Given the description of an element on the screen output the (x, y) to click on. 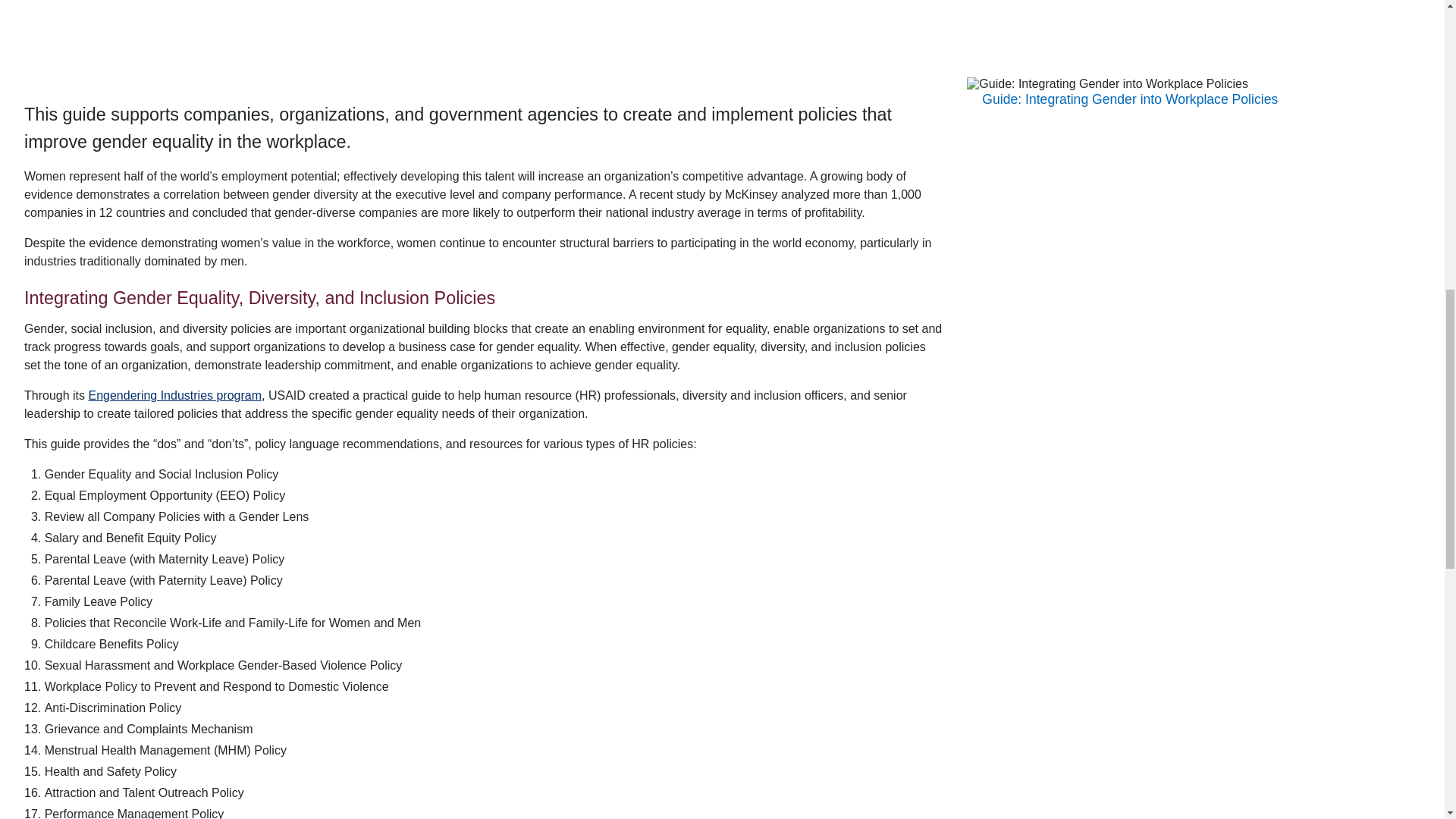
File: Guide: Integrating Gender into Workplace Policies  (1129, 99)
Engendering Industries program (174, 395)
